Given the description of an element on the screen output the (x, y) to click on. 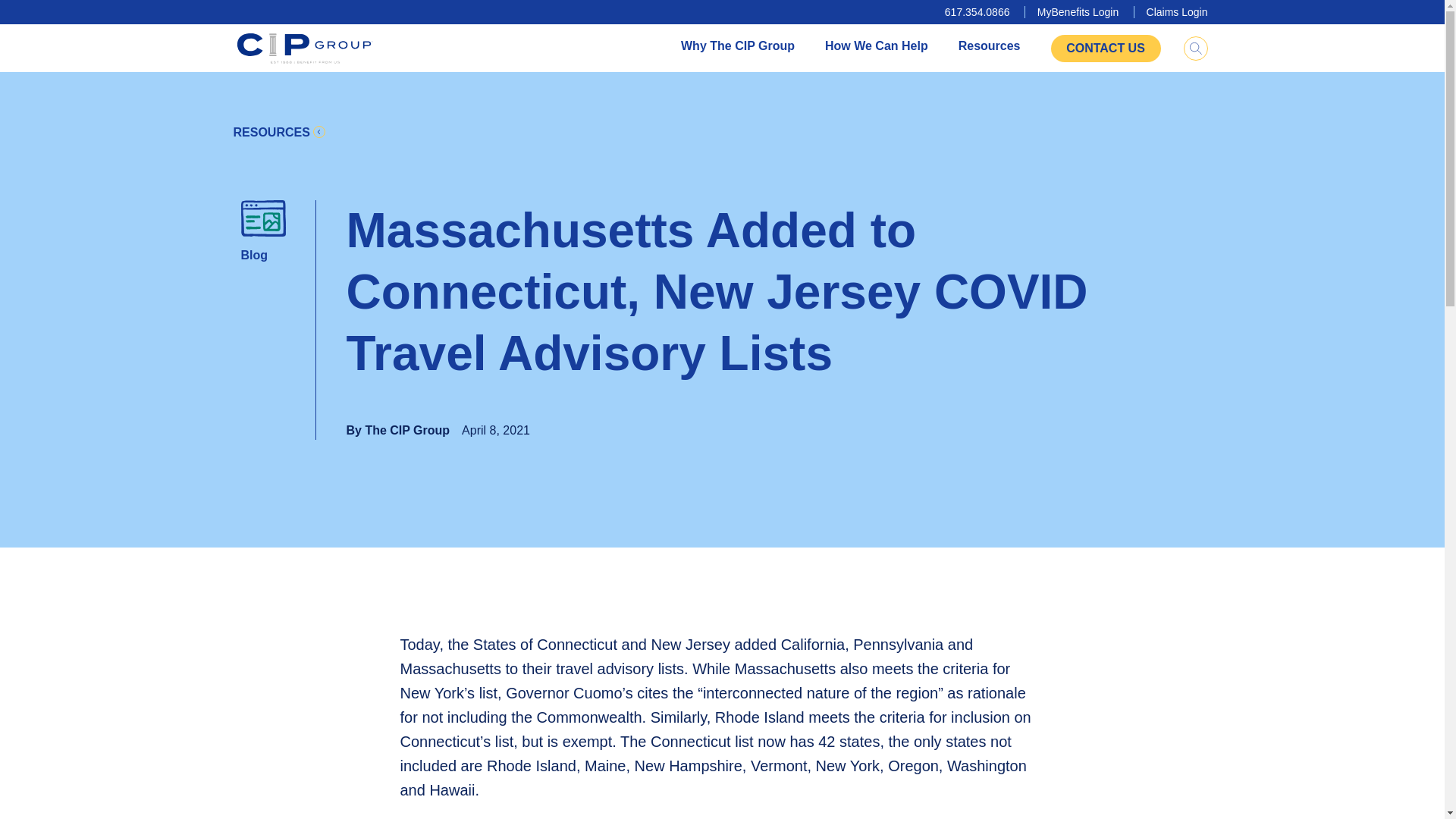
617.354.0866 (977, 11)
Claims Login (1177, 11)
MyBenefits Login (1077, 11)
